Given the description of an element on the screen output the (x, y) to click on. 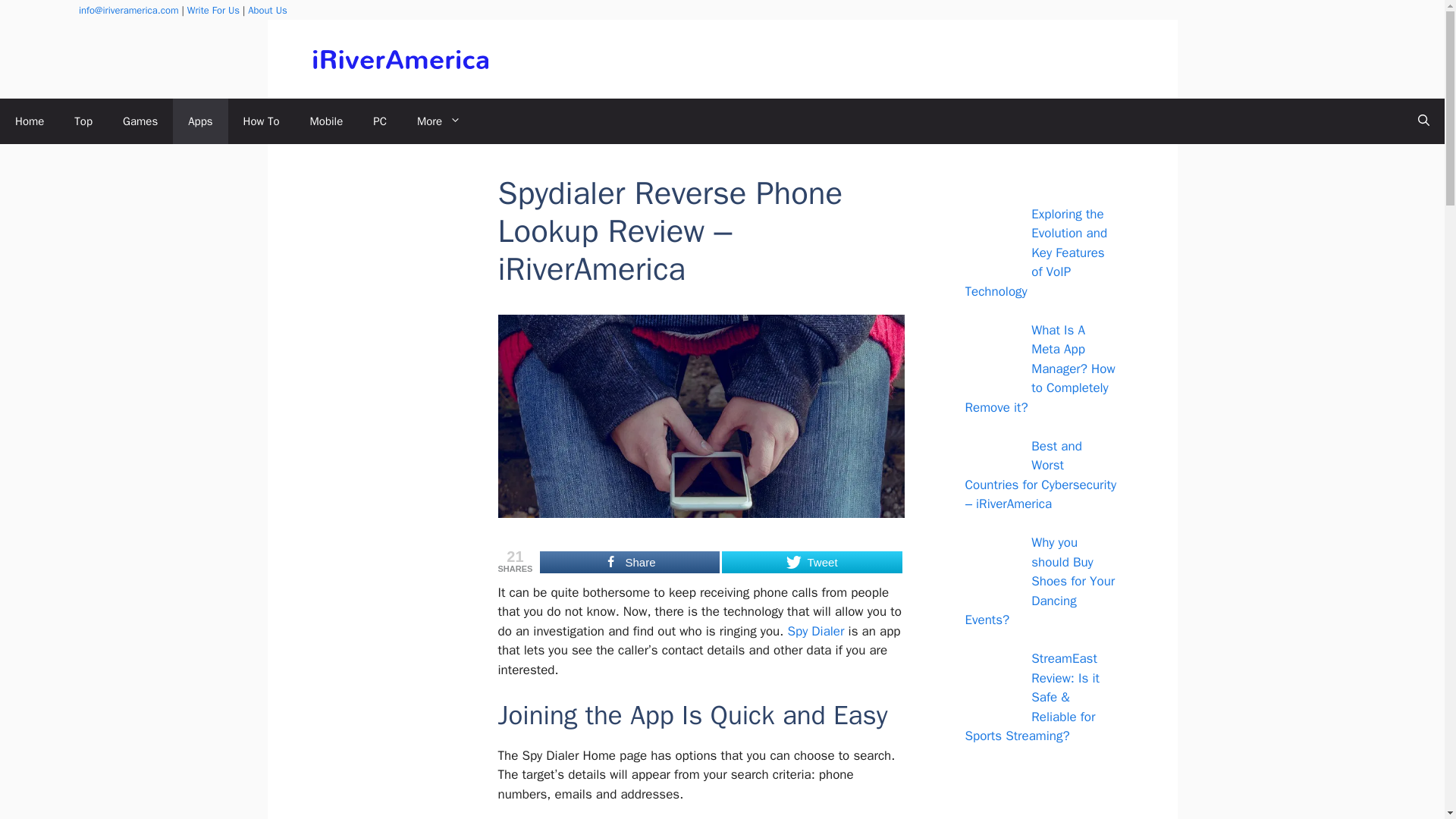
Write For Us (213, 10)
Spy Dialer (815, 631)
PC (379, 121)
Share (629, 562)
Home (29, 121)
Tweet (811, 562)
About Us (266, 10)
Mobile (326, 121)
What Is A Meta App Manager? How to Completely Remove it? (1039, 367)
Why you should Buy Shoes for Your Dancing Events? (1039, 581)
